Given the description of an element on the screen output the (x, y) to click on. 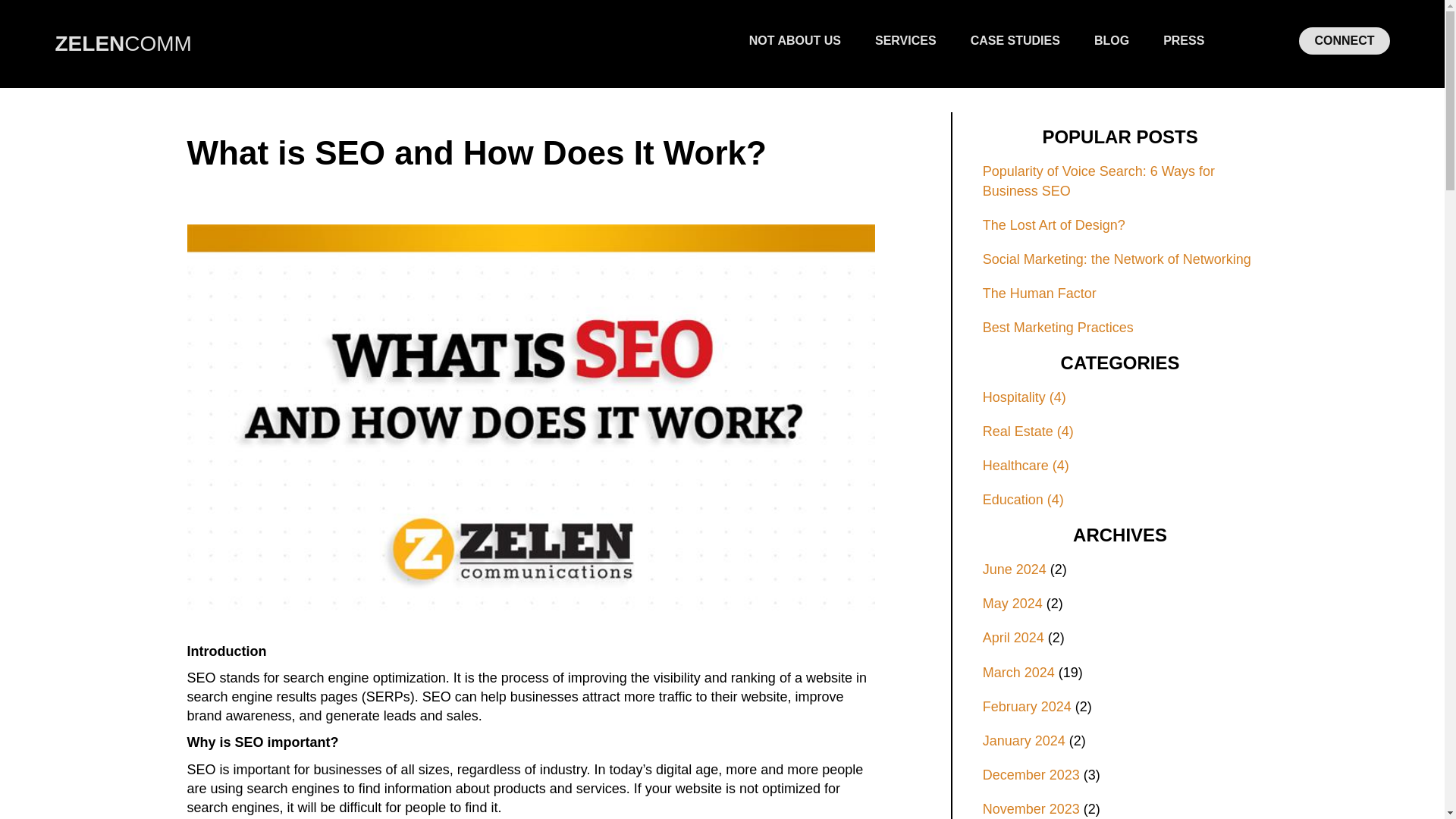
Best Marketing Practices (1119, 327)
The Lost Art of Design? (1119, 225)
February 2024 (1026, 706)
The Human Factor (1119, 293)
Popularity of Voice Search: 6 Ways for Business SEO (1119, 180)
November 2023 (1031, 808)
CONNECT (1343, 40)
PRESS (1183, 40)
SERVICES (905, 40)
March 2024 (1018, 672)
January 2024 (1023, 740)
CASE STUDIES (1014, 40)
BLOG (1111, 40)
ZELENCOMM (122, 43)
April 2024 (1012, 637)
